Given the description of an element on the screen output the (x, y) to click on. 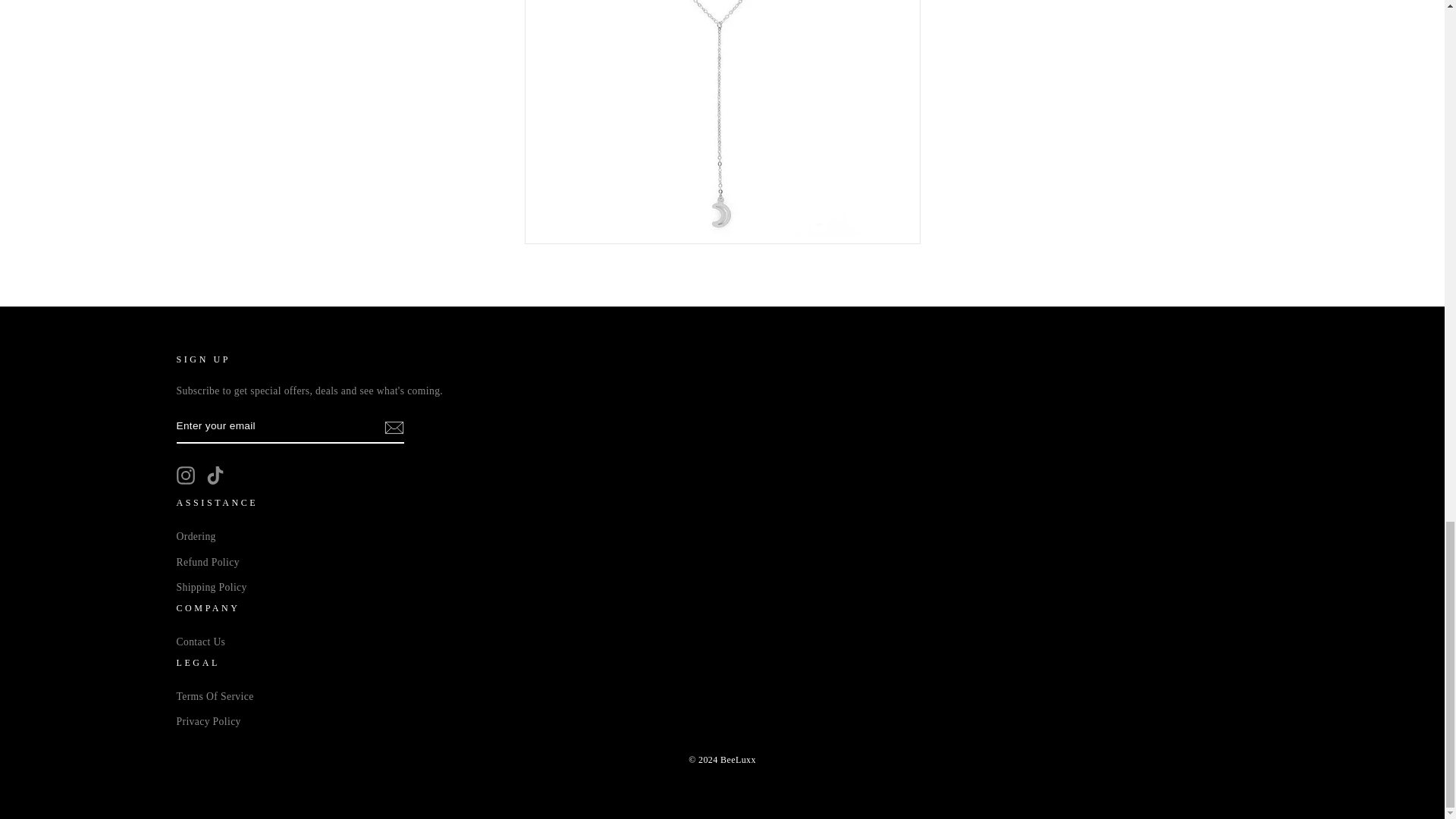
BeeLuxx on Instagram (184, 475)
Refund Policy (207, 562)
BeeLuxx on TikTok (215, 475)
Instagram (184, 475)
Ordering (195, 536)
TikTok (215, 475)
Shipping Policy (211, 587)
